Given the description of an element on the screen output the (x, y) to click on. 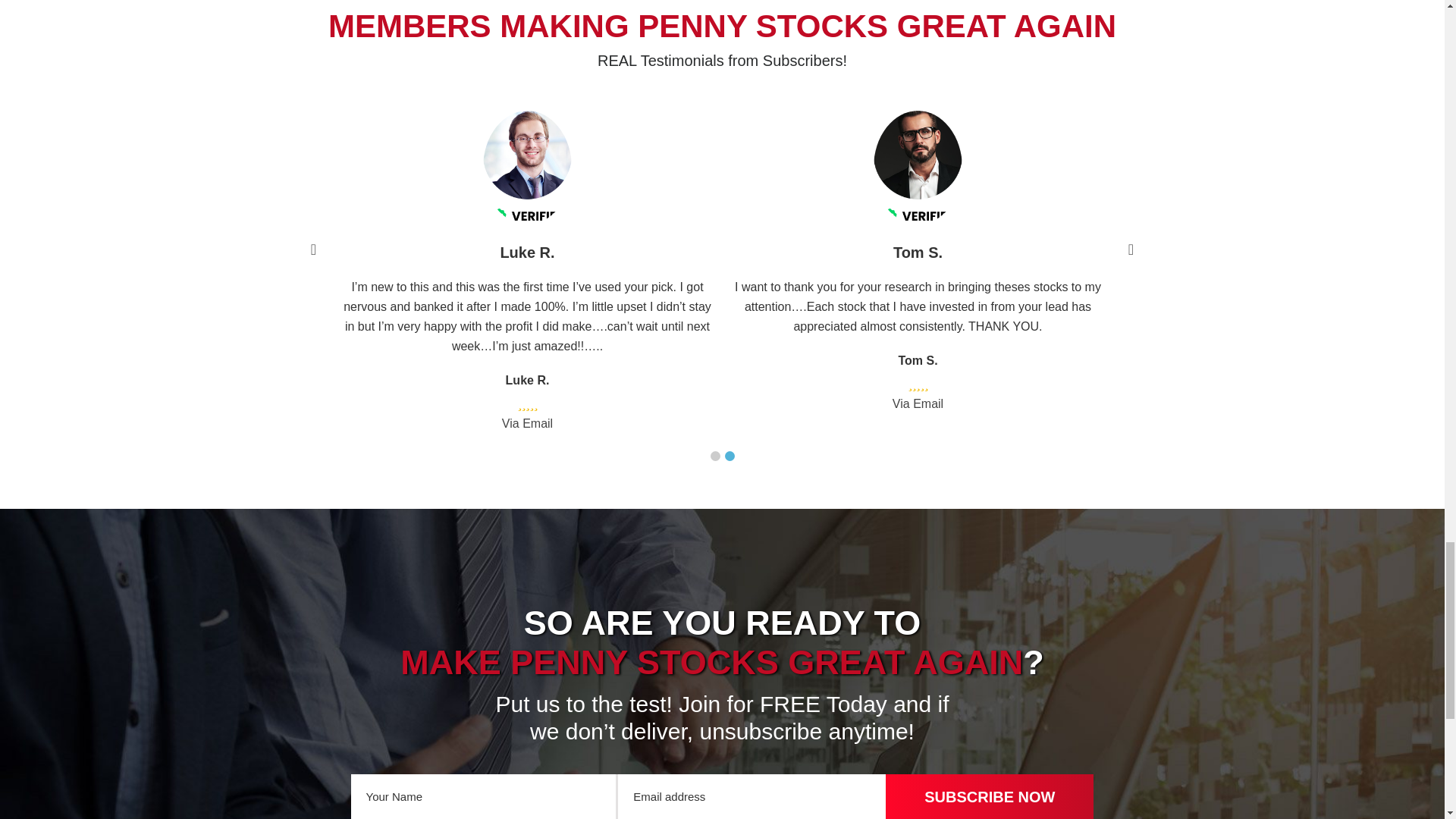
SUBSCRIBE NOW (989, 796)
SUBSCRIBE NOW (989, 796)
